Given the description of an element on the screen output the (x, y) to click on. 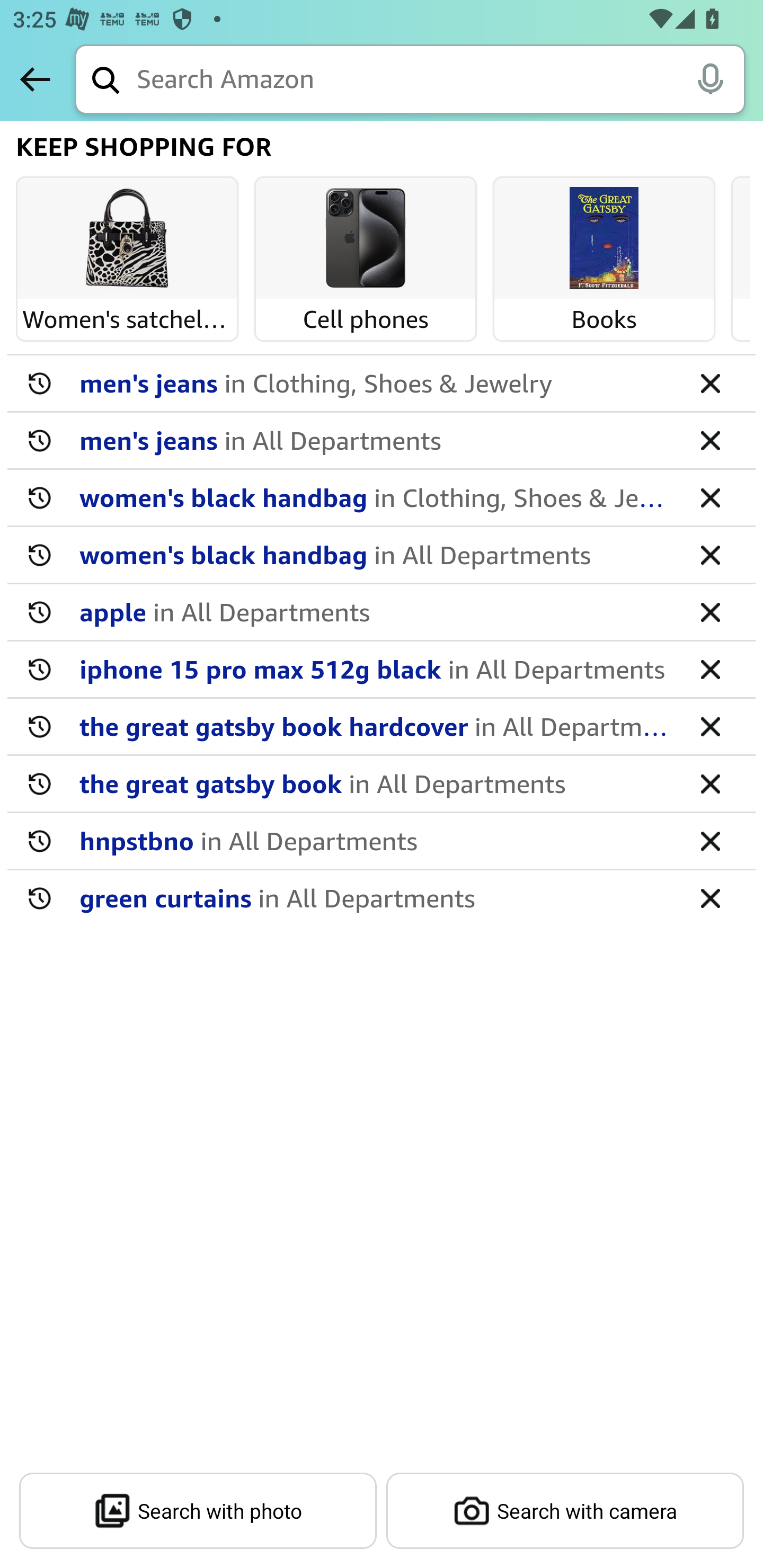
Search Amazon (440, 80)
Back (35, 78)
Alexa (710, 78)
Women's satchel handbags (126, 238)
Cell phones (365, 238)
Books (603, 238)
men's jeans delete (381, 383)
men's jeans (374, 382)
delete (710, 382)
men's jeans delete (381, 440)
men's jeans (374, 439)
delete (710, 439)
women's black handbag delete (381, 497)
women's black handbag (374, 496)
delete (710, 496)
women's black handbag delete (381, 554)
women's black handbag (374, 554)
delete (710, 554)
apple delete (381, 612)
apple (374, 611)
delete (710, 611)
iphone 15 pro max 512g black delete (381, 669)
iphone 15 pro max 512g black (374, 668)
delete (710, 668)
the great gatsby book hardcover delete (381, 726)
the great gatsby book hardcover (374, 725)
delete (710, 725)
the great gatsby book delete (381, 783)
the great gatsby book (374, 783)
delete (710, 783)
hnpstbno delete (381, 841)
hnpstbno (374, 840)
delete (710, 840)
green curtains delete (381, 897)
green curtains (374, 897)
delete (710, 897)
Search with photo (197, 1510)
Search with camera (564, 1510)
